Given the description of an element on the screen output the (x, y) to click on. 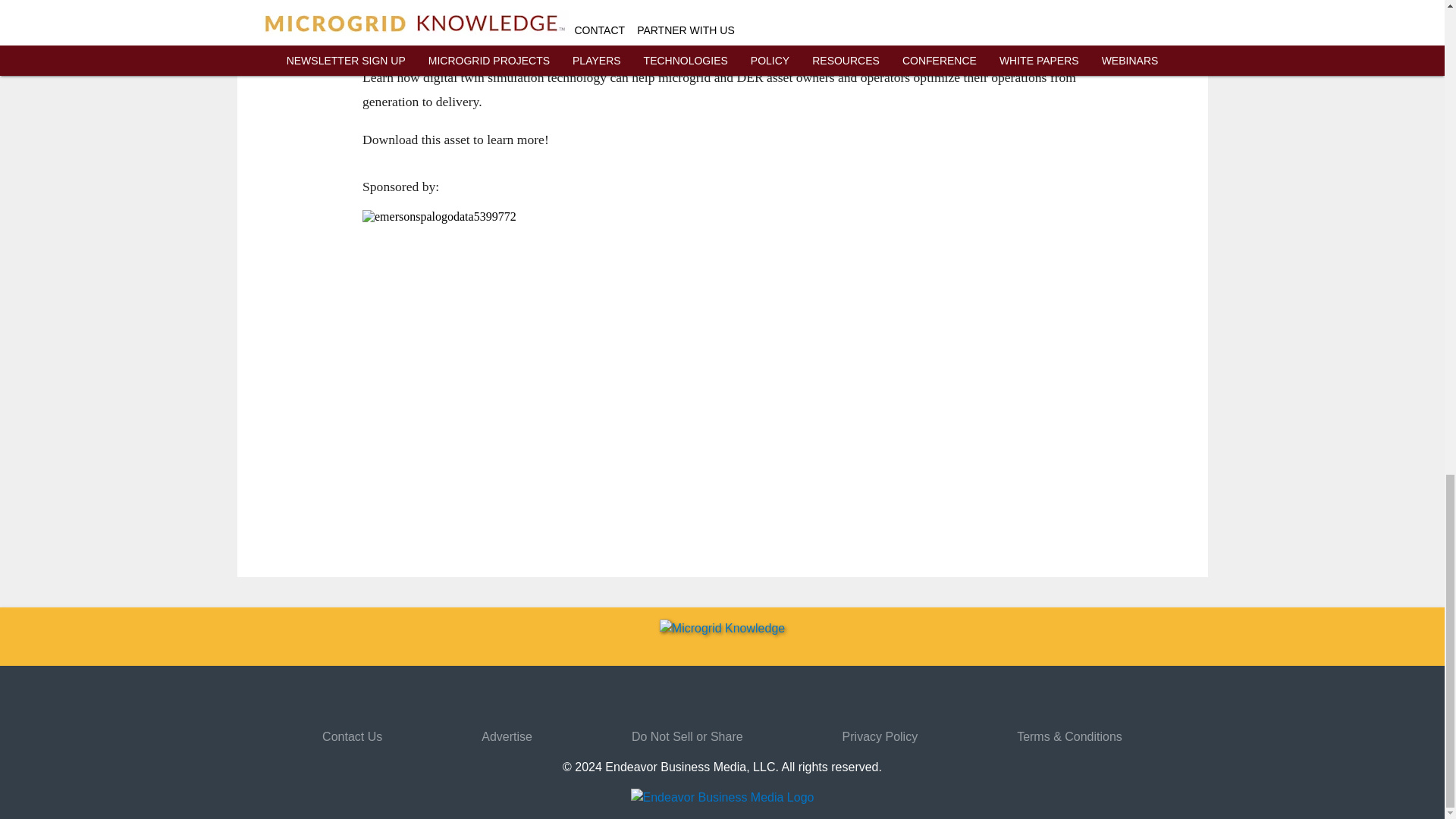
Privacy Policy (880, 736)
Contact Us (351, 736)
Advertise (506, 736)
emersonspalogodata5399772 (536, 383)
Do Not Sell or Share (686, 736)
